Given the description of an element on the screen output the (x, y) to click on. 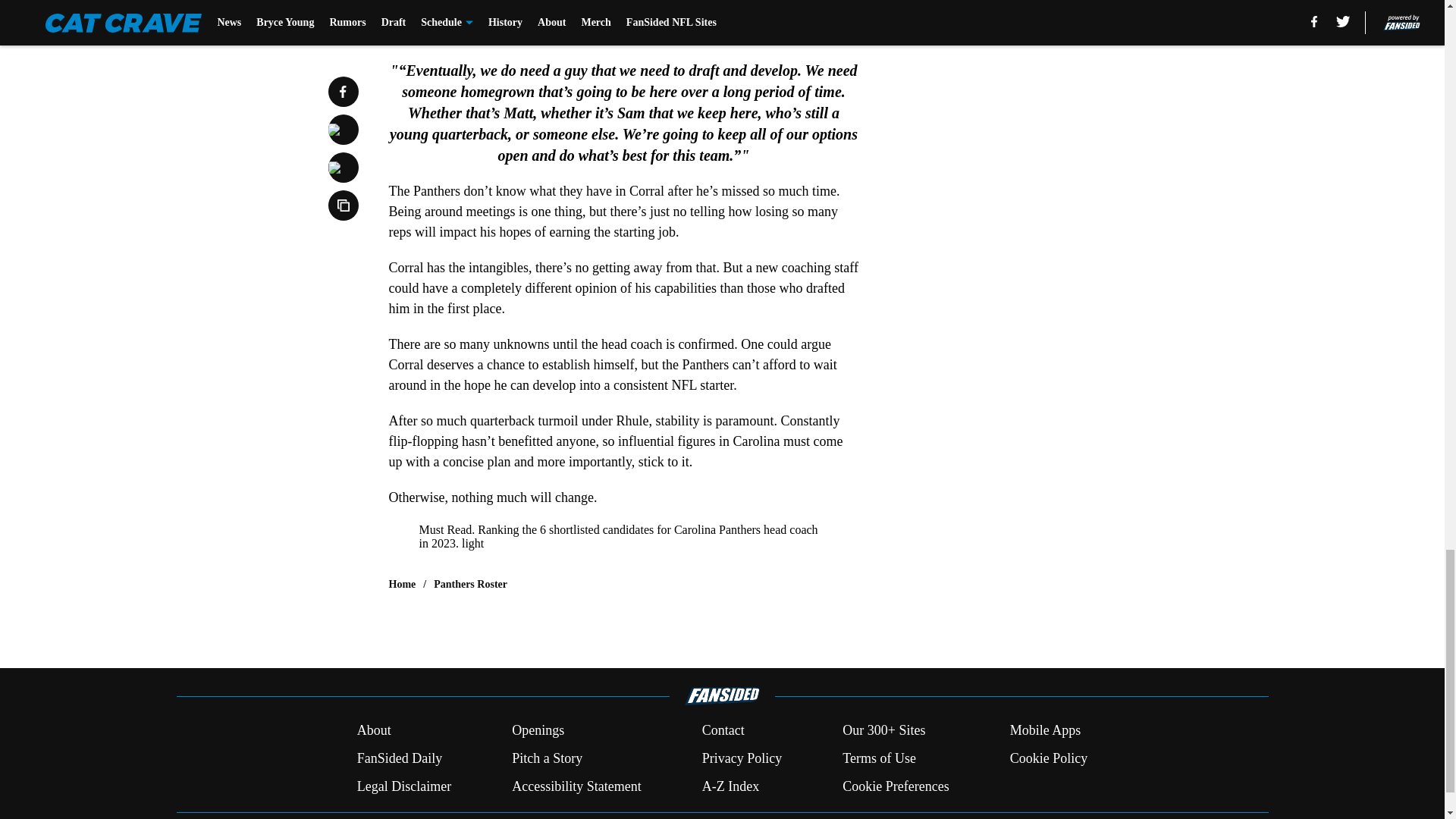
Panthers Roster (469, 584)
Terms of Use (879, 758)
About (373, 730)
Privacy Policy (742, 758)
Cookie Policy (1048, 758)
Openings (538, 730)
Legal Disclaimer (403, 786)
Accessibility Statement (576, 786)
Pitch a Story (547, 758)
